Given the description of an element on the screen output the (x, y) to click on. 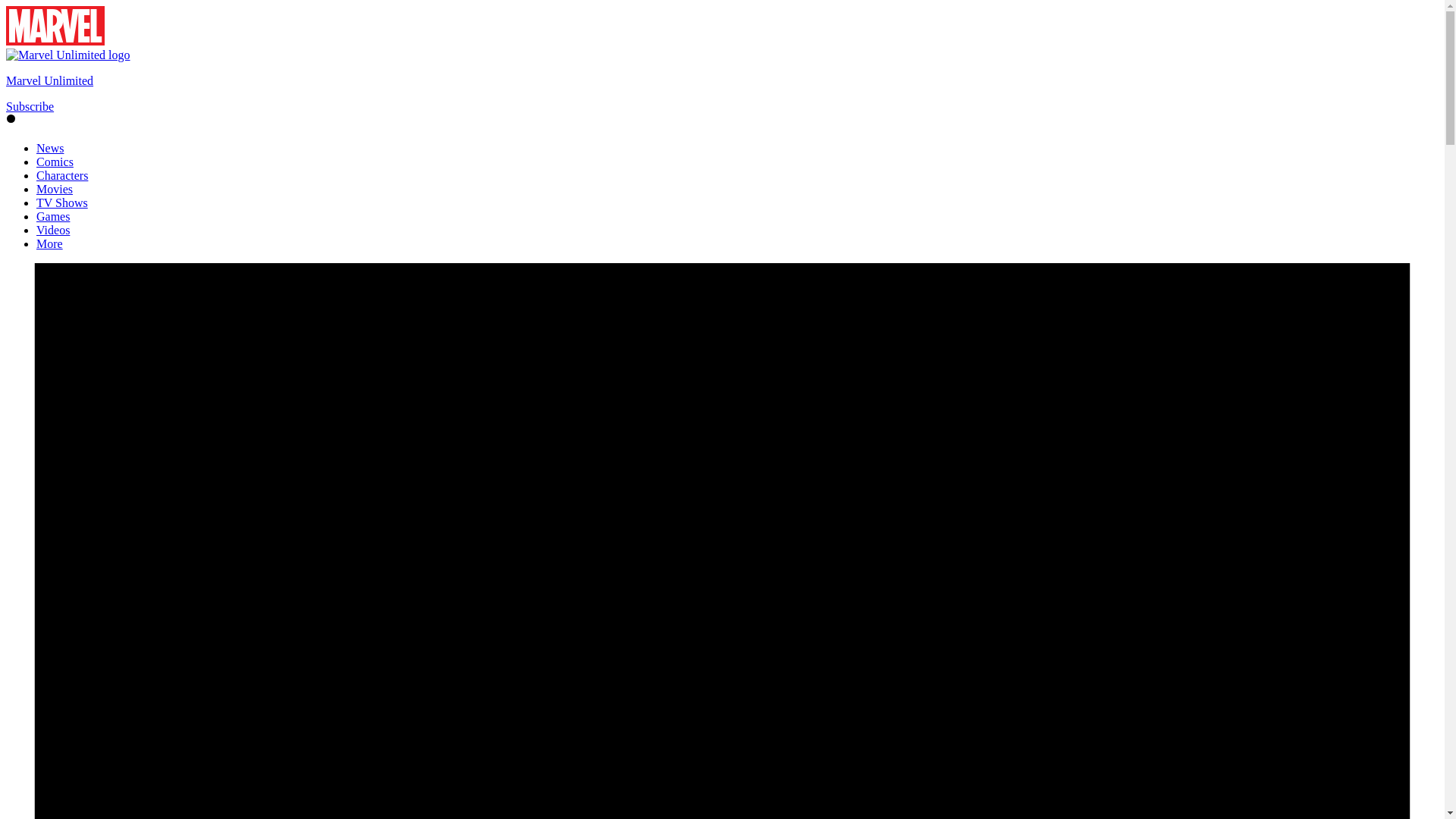
TV Shows (61, 202)
Characters (61, 174)
Games (52, 215)
Comics (55, 161)
More (49, 243)
Videos (52, 229)
Movies (54, 188)
News (50, 147)
